Given the description of an element on the screen output the (x, y) to click on. 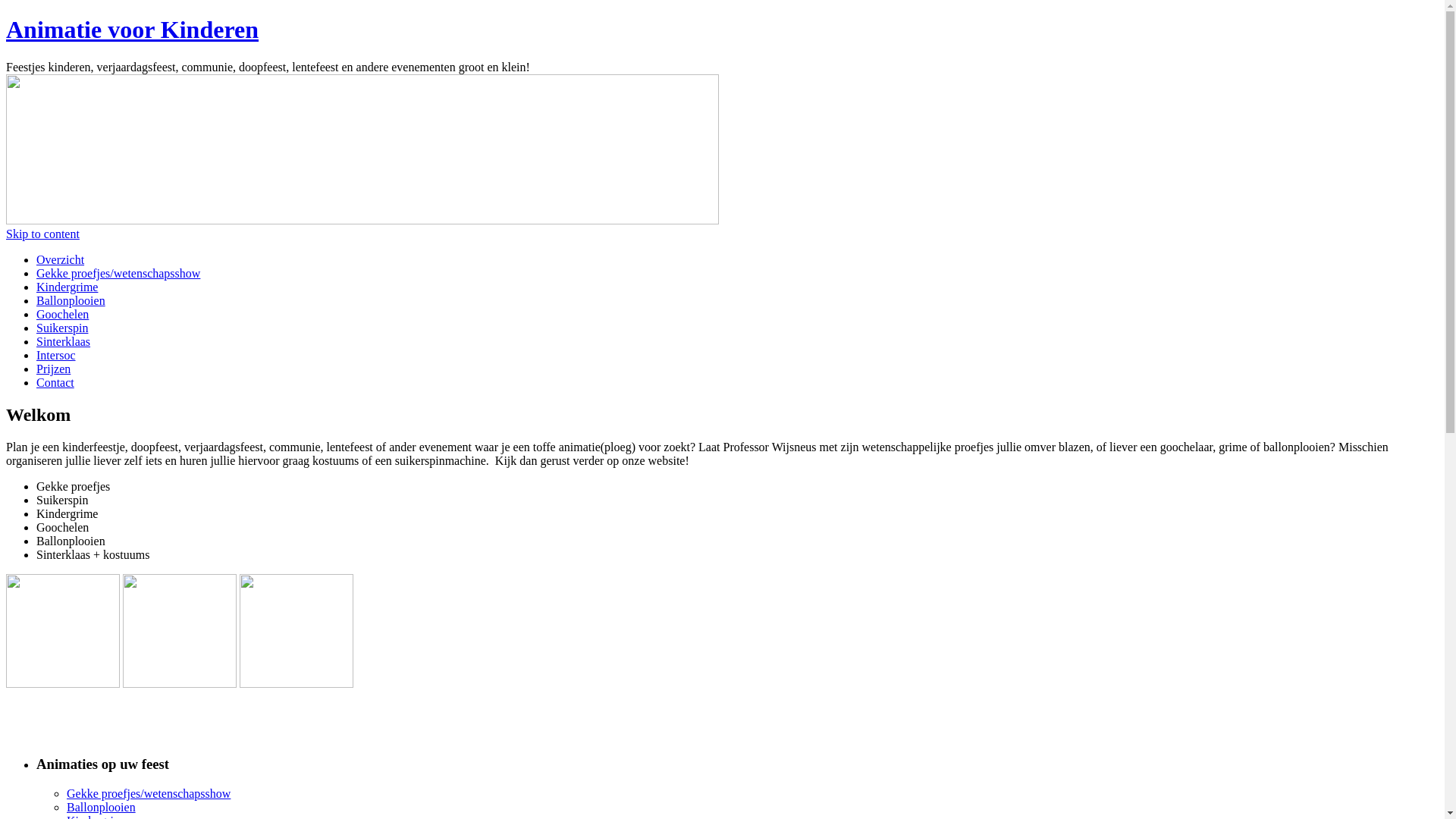
Animatie voor Kinderen Element type: text (132, 29)
Kindergrime Element type: text (66, 286)
Skip to content Element type: text (42, 233)
Gekke proefjes/wetenschapsshow Element type: text (148, 793)
Suikerspin Element type: text (61, 327)
Contact Element type: text (55, 382)
Goochelen Element type: text (62, 313)
Overzicht Element type: text (60, 259)
Ballonplooien Element type: text (70, 300)
Intersoc Element type: text (55, 354)
Ballonplooien Element type: text (100, 806)
Sinterklaas Element type: text (63, 341)
Prijzen Element type: text (53, 368)
Gekke proefjes/wetenschapsshow Element type: text (118, 272)
